Given the description of an element on the screen output the (x, y) to click on. 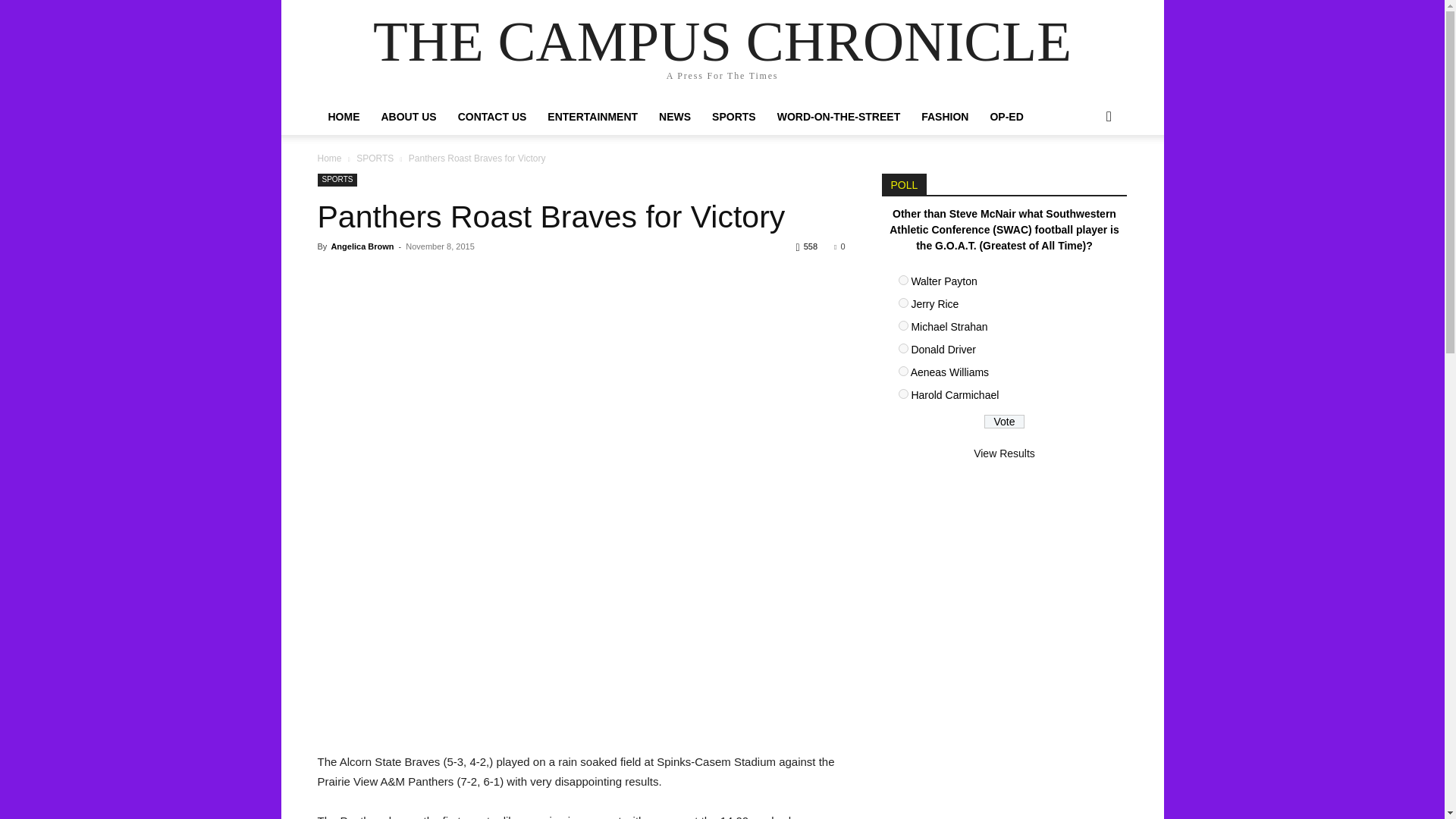
THE CAMPUS CHRONICLE (721, 41)
561 (902, 347)
NEWS (674, 116)
CONTACT US (491, 116)
559 (902, 302)
558 (902, 280)
560 (902, 325)
View all posts in SPORTS (374, 158)
ABOUT US (407, 116)
563 (902, 393)
   Vote    (1004, 421)
562 (902, 370)
ENTERTAINMENT (592, 116)
HOME (343, 116)
